Given the description of an element on the screen output the (x, y) to click on. 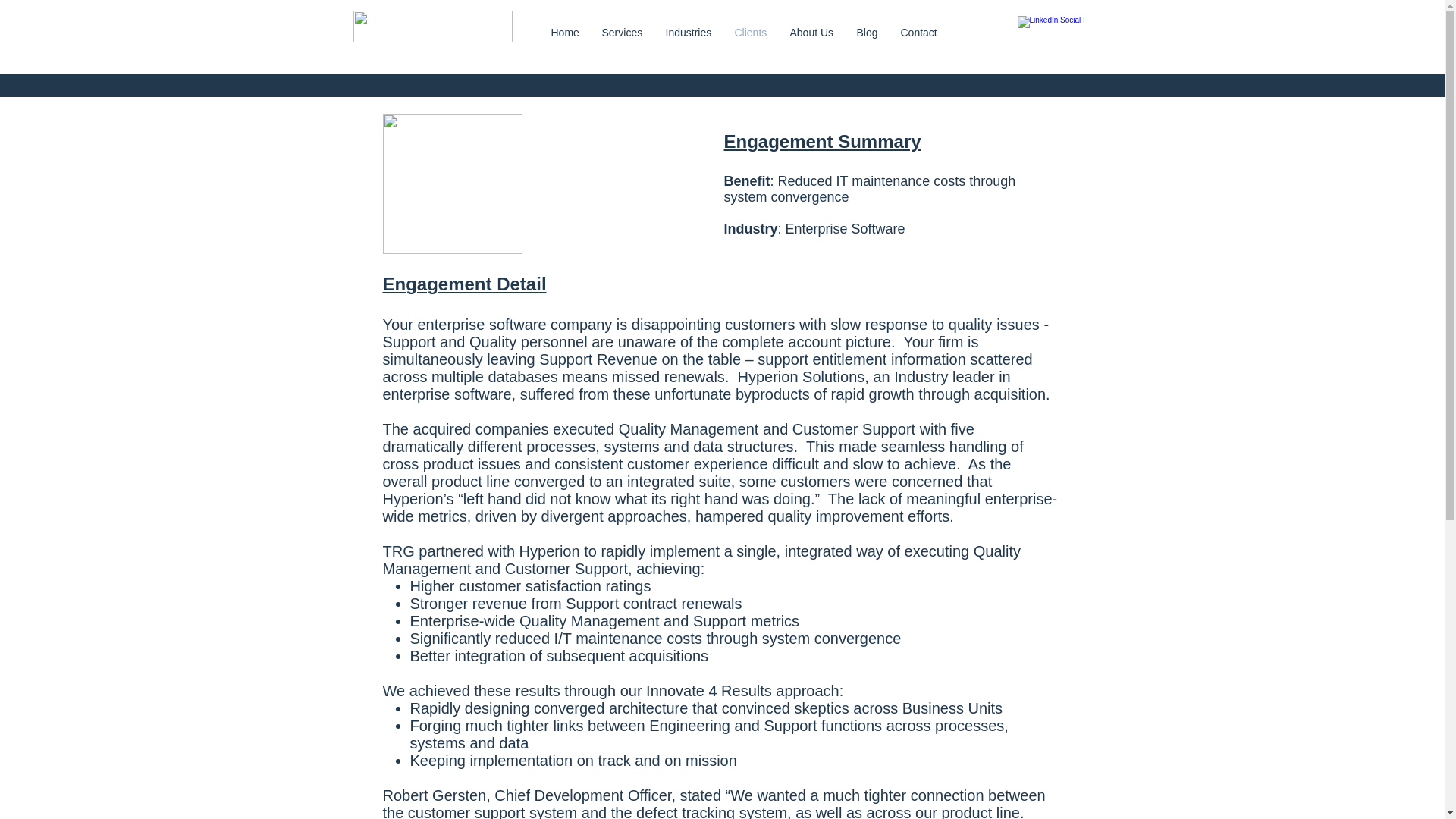
hyperion.jpg (451, 183)
Industries (687, 32)
Contact (917, 32)
Blog (866, 32)
Clients (750, 32)
Home (565, 32)
